Given the description of an element on the screen output the (x, y) to click on. 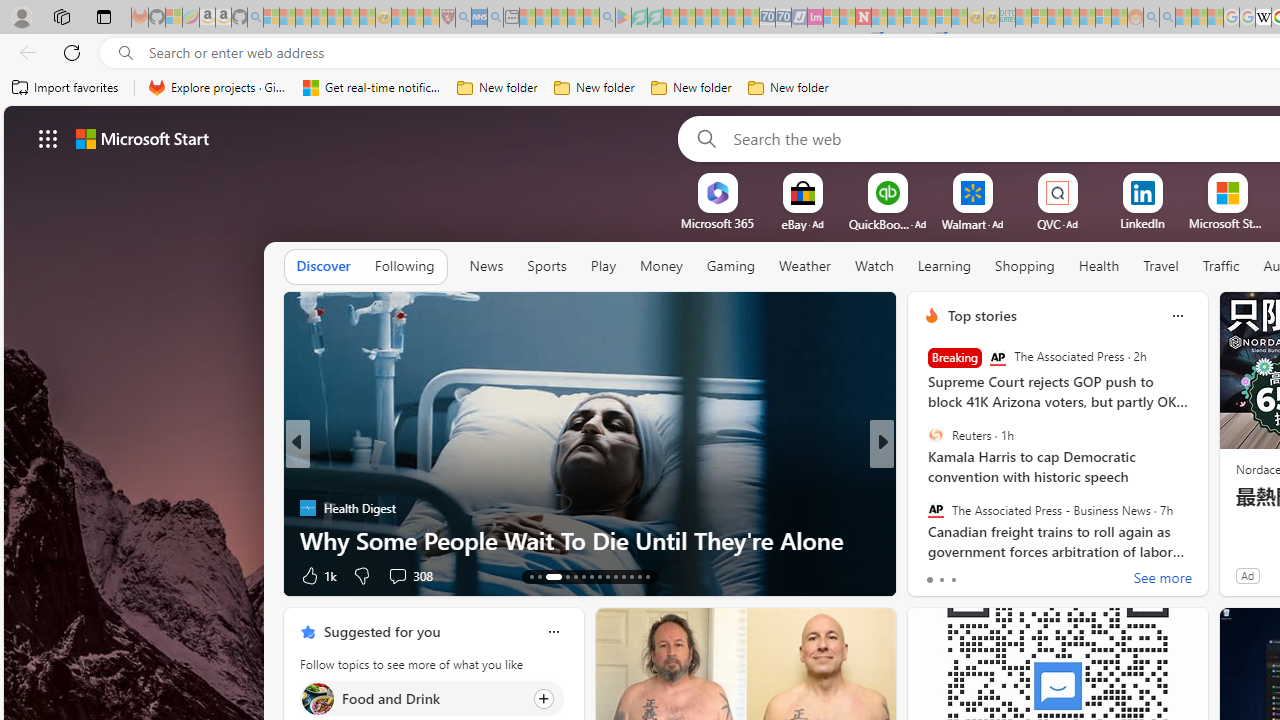
Lucy Diamond (923, 507)
AutomationID: tab-25 (638, 576)
Suggested for you (381, 631)
AutomationID: tab-17 (574, 576)
186 Like (936, 574)
